Given the description of an element on the screen output the (x, y) to click on. 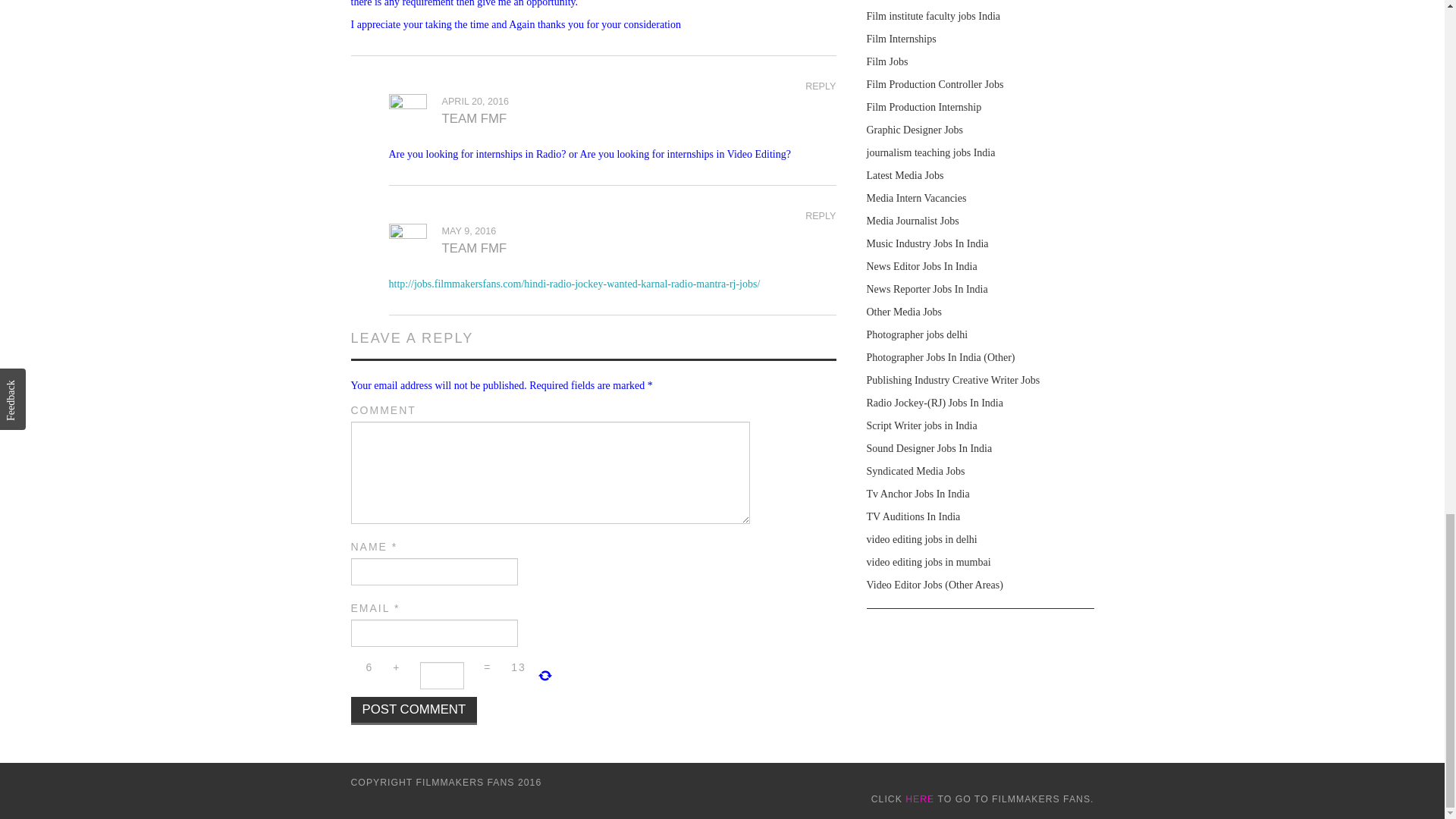
Post Comment (413, 710)
REPLY (820, 215)
APRIL 20, 2016 (474, 101)
MAY 9, 2016 (468, 231)
Post Comment (413, 710)
REPLY (820, 86)
